Given the description of an element on the screen output the (x, y) to click on. 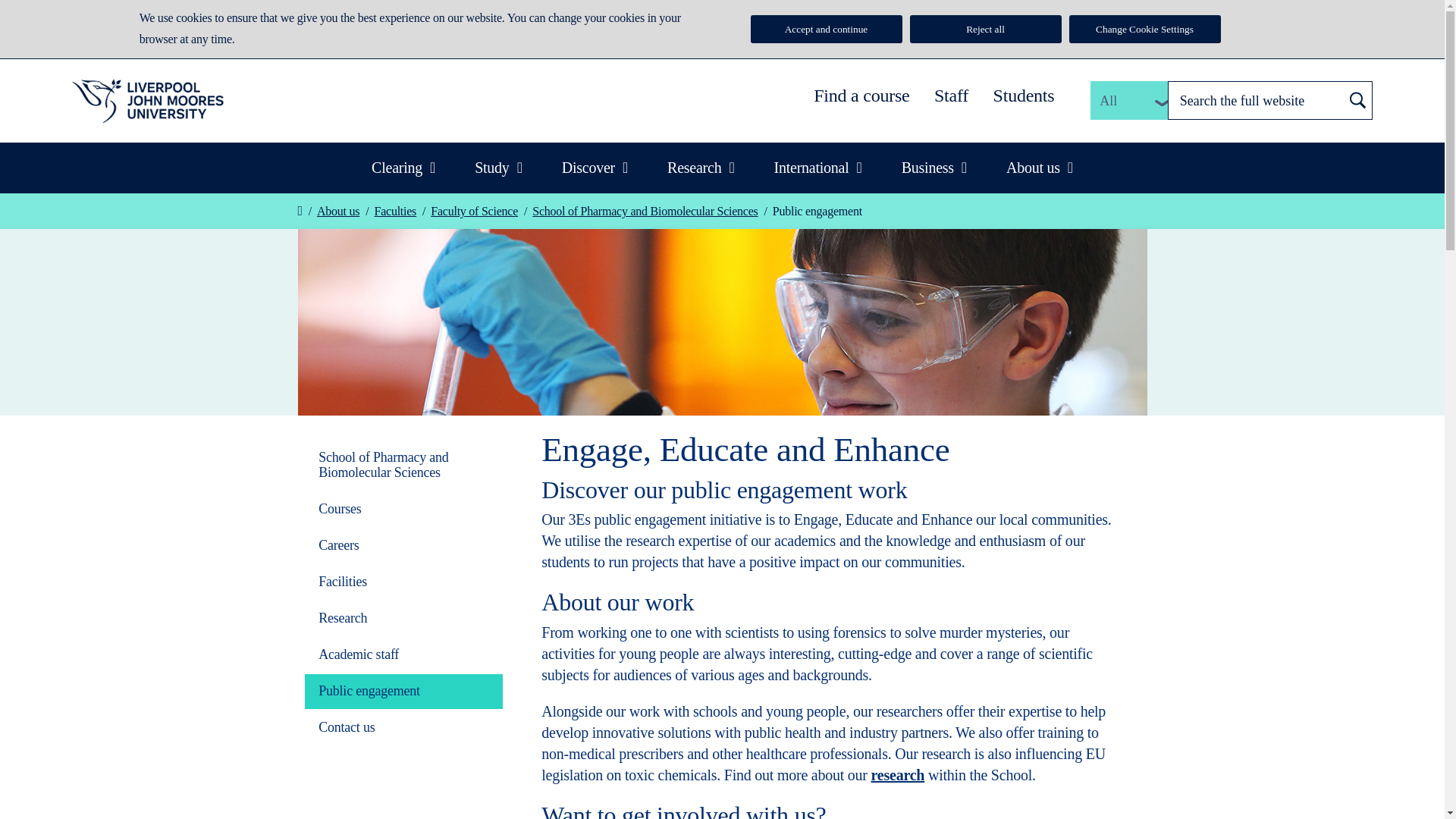
Accept and continue (826, 29)
Students (1023, 95)
Staff (951, 95)
Find a course (860, 95)
Reject all (985, 29)
